Given the description of an element on the screen output the (x, y) to click on. 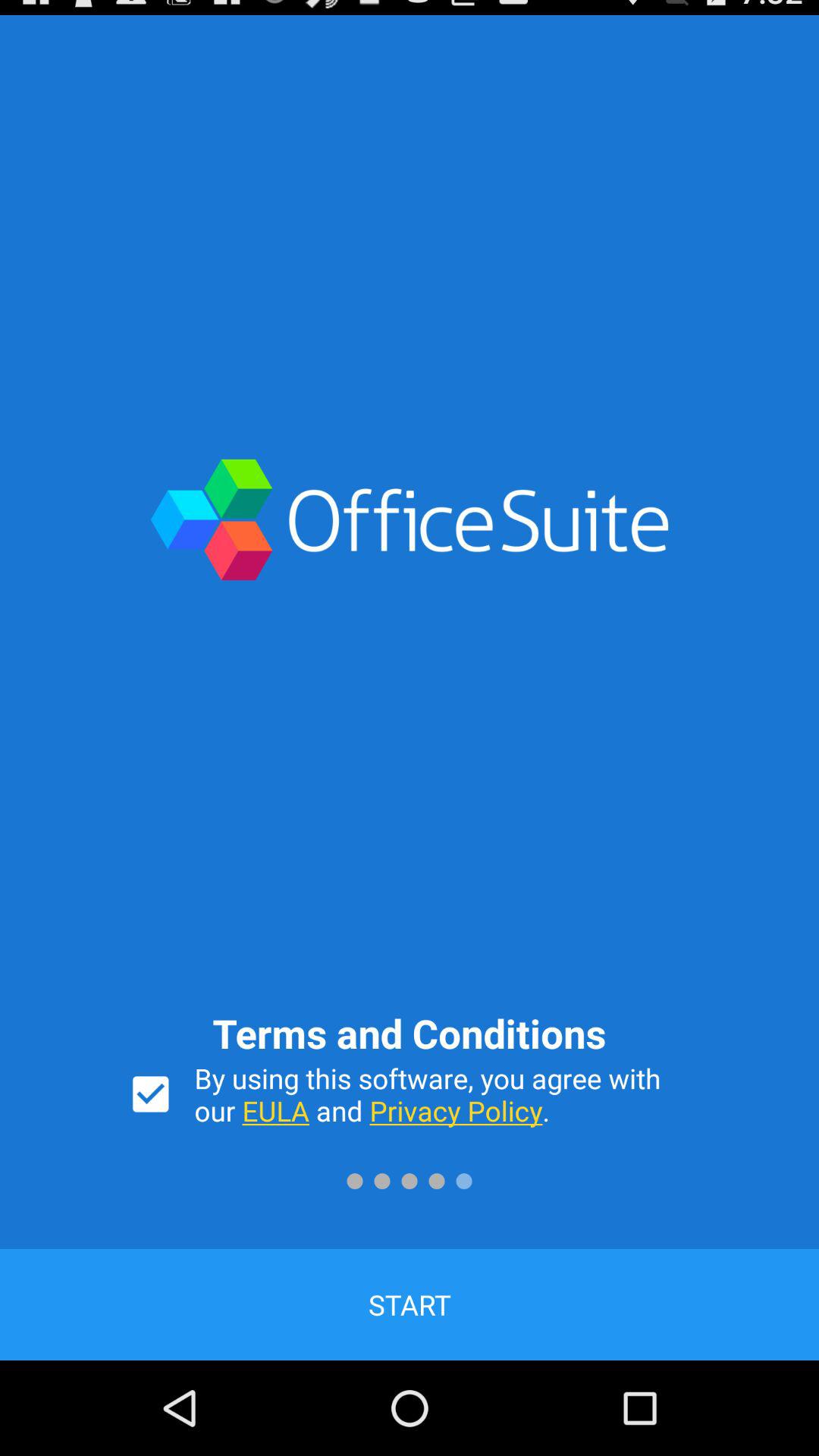
turn on the icon at the bottom left corner (150, 1093)
